Given the description of an element on the screen output the (x, y) to click on. 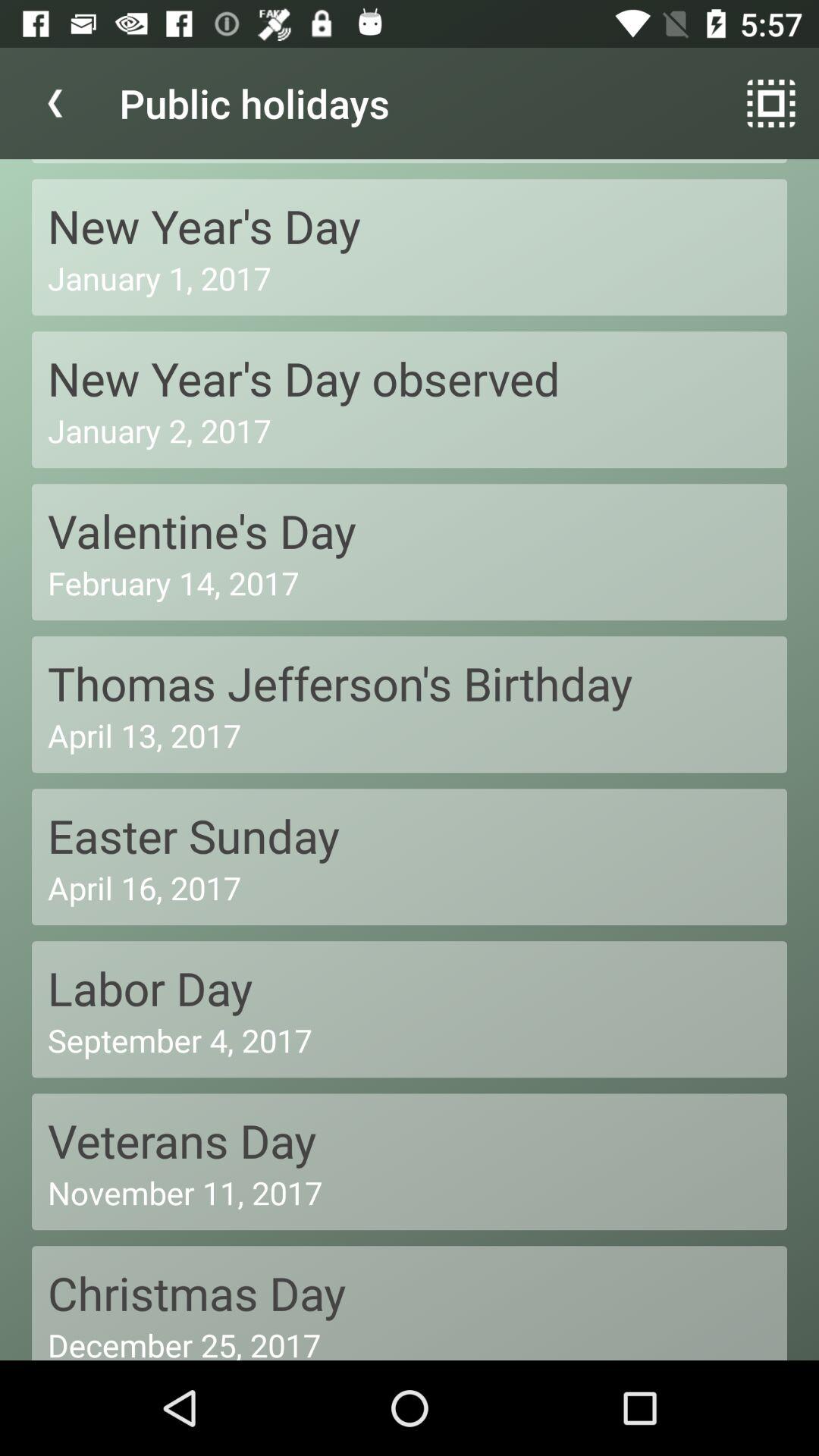
open the item at the top right corner (771, 103)
